Given the description of an element on the screen output the (x, y) to click on. 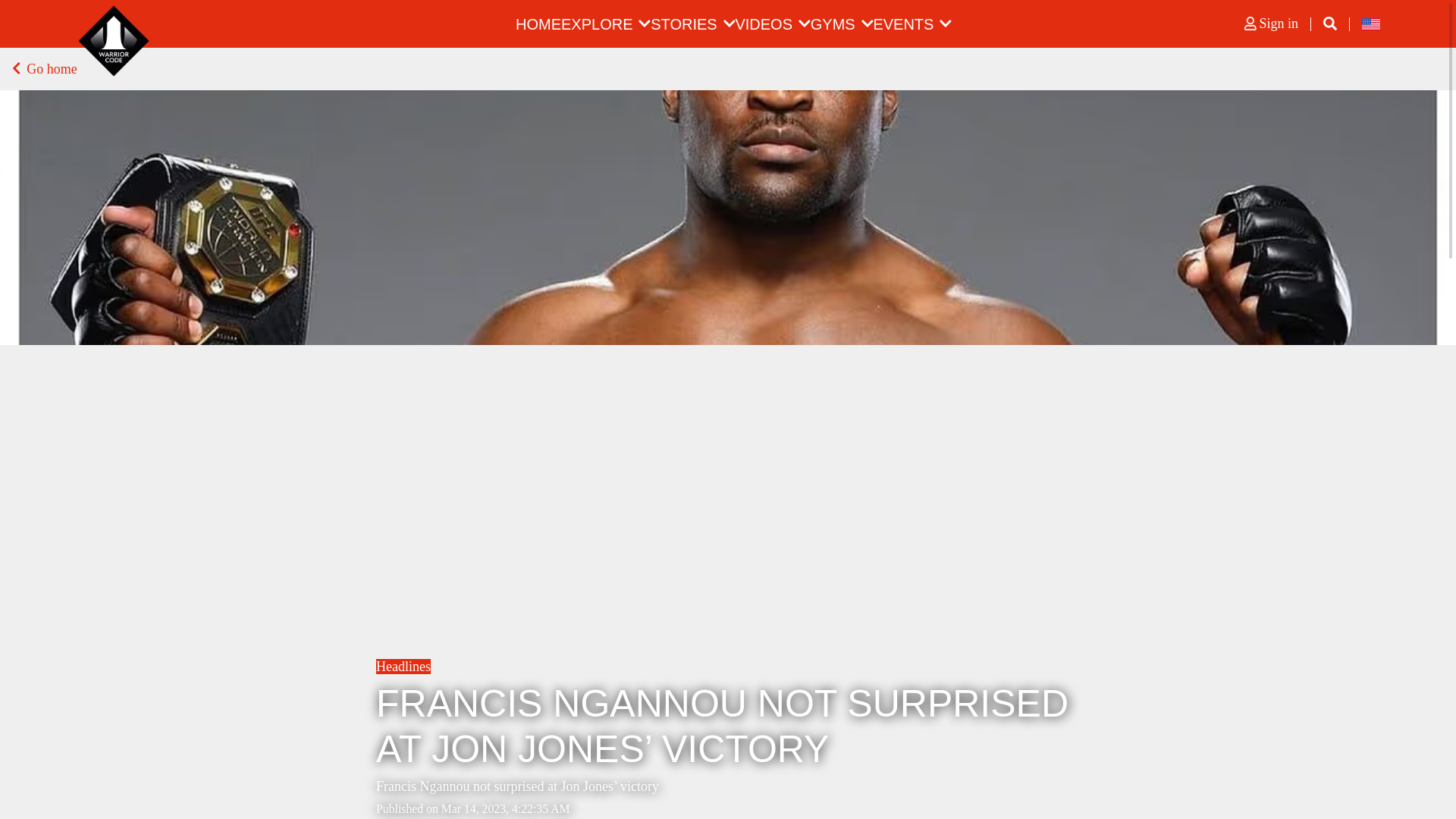
GYMS (833, 23)
STORIES (683, 23)
EVENTS (902, 23)
EXPLORE (595, 23)
VIDEOS (763, 23)
HOME (537, 23)
